Given the description of an element on the screen output the (x, y) to click on. 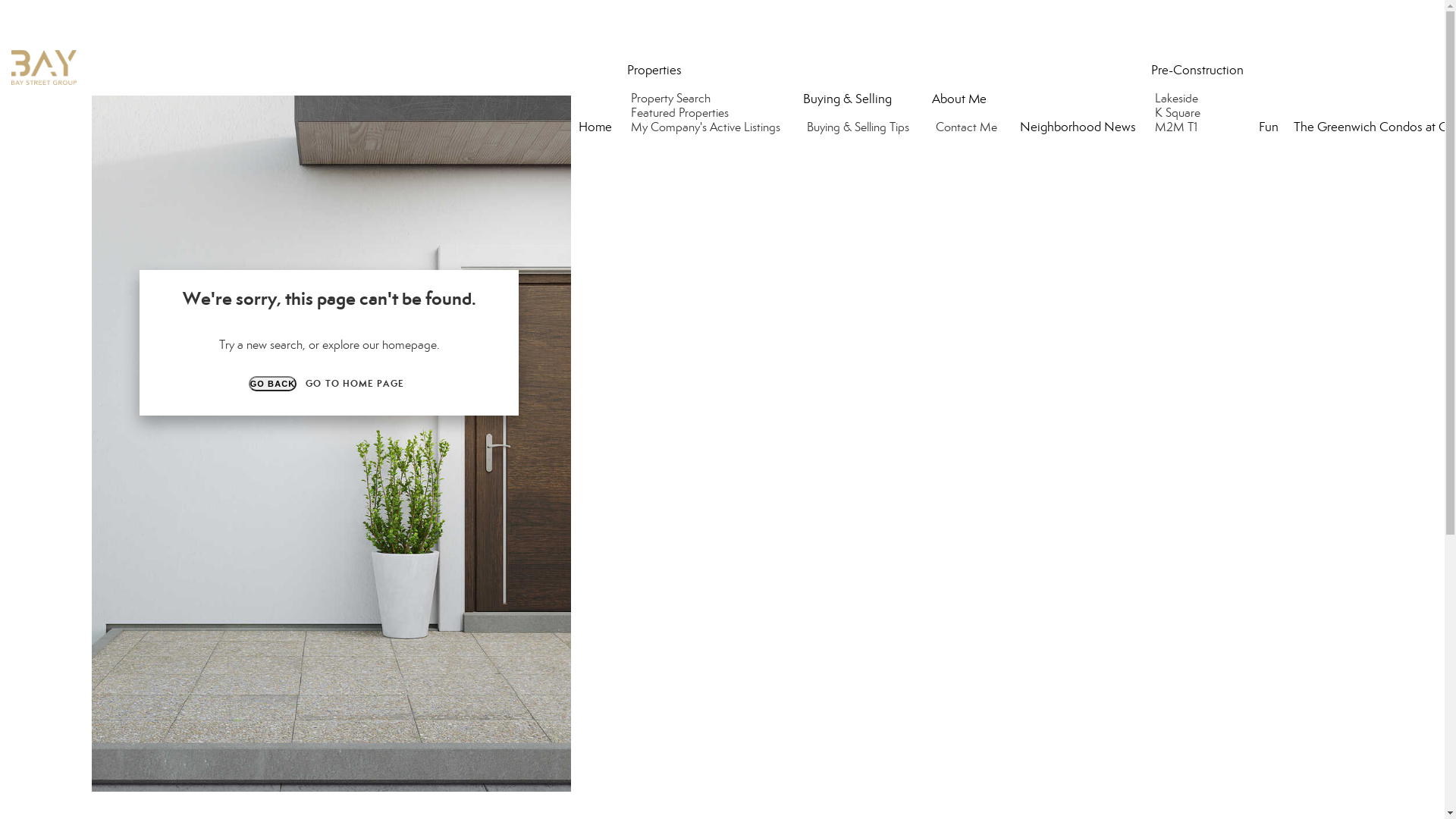
Property Search Element type: text (672, 97)
Neighborhood News Element type: text (1077, 126)
Featured Properties Element type: text (681, 112)
Buying & Selling Tips Element type: text (859, 126)
About Me Element type: text (959, 98)
Properties Element type: text (654, 70)
Buying & Selling Element type: text (847, 98)
Pre-Construction Element type: text (1197, 70)
Home Element type: text (595, 126)
GO TO HOME PAGE Element type: text (354, 383)
K Square Element type: text (1179, 112)
Fun Element type: text (1268, 126)
My Company's Active Listings Element type: text (707, 126)
Contact Me Element type: text (968, 126)
M2M T1 Element type: text (1177, 126)
GO BACK Element type: text (272, 383)
Lakeside Element type: text (1178, 97)
